Given the description of an element on the screen output the (x, y) to click on. 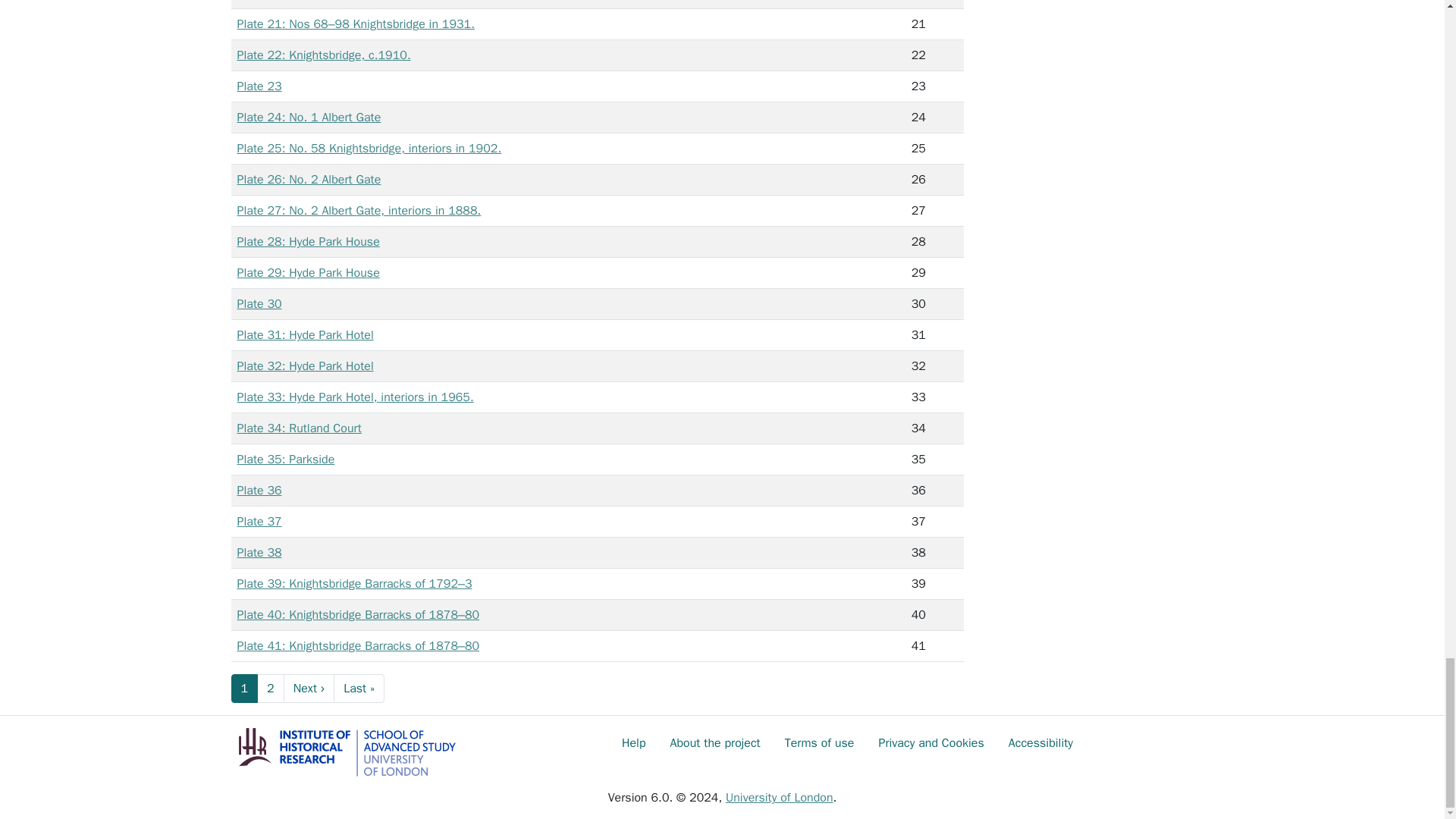
Current page (243, 688)
Go to page 2 (270, 688)
Go to next page (308, 688)
Go to last page (358, 688)
